Given the description of an element on the screen output the (x, y) to click on. 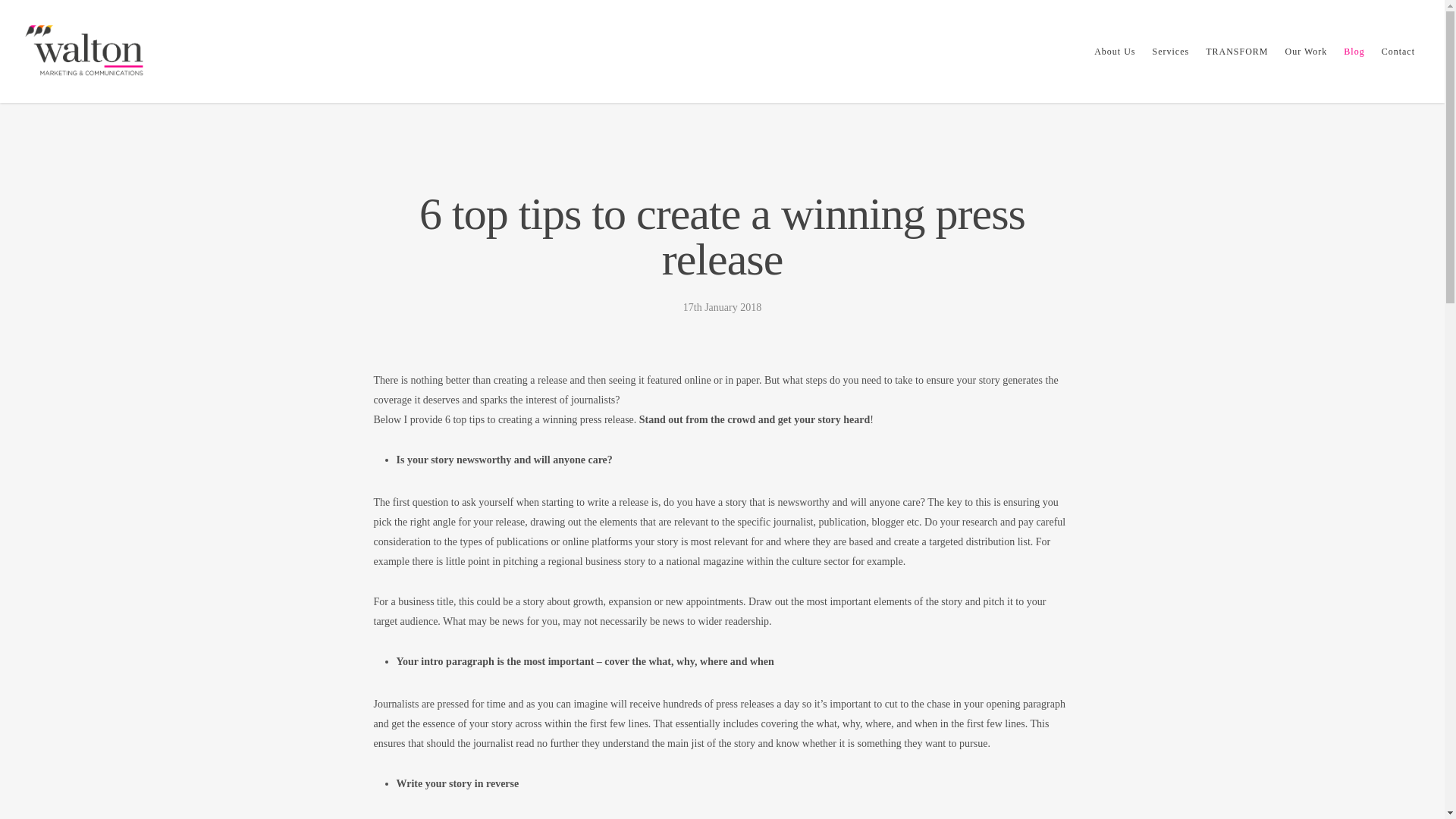
About Us (1114, 62)
Blog (1353, 62)
Services (1170, 62)
Our Work (1306, 62)
Contact (1398, 62)
TRANSFORM (1236, 62)
